Given the description of an element on the screen output the (x, y) to click on. 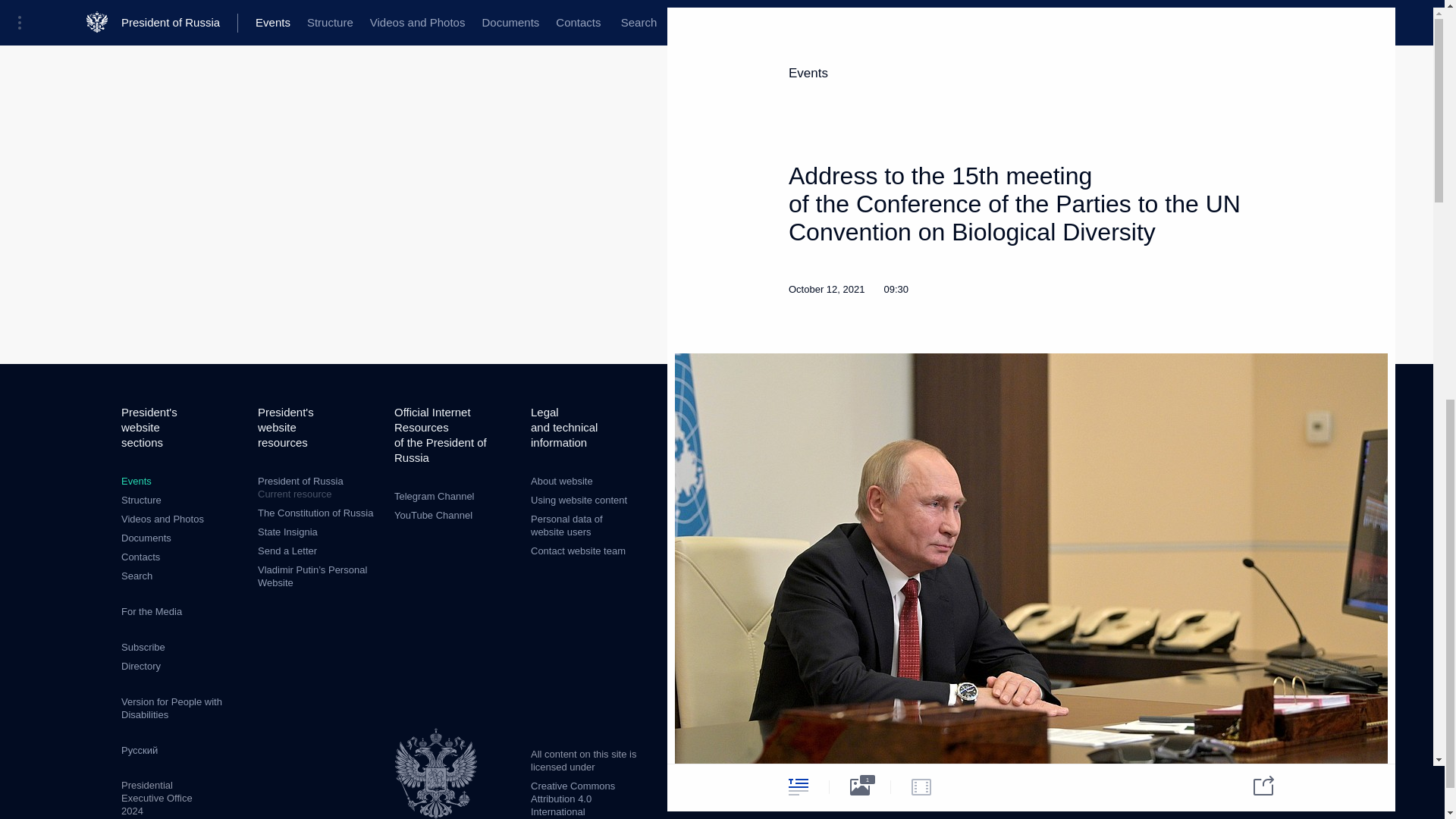
Telegram Channel (434, 496)
Events (135, 480)
YouTube Channel (432, 514)
Creative Commons Attribution 4.0 International (572, 798)
The Constitution of Russia (314, 512)
Directory (140, 665)
Documents (145, 537)
State Insignia (287, 531)
About website (561, 480)
Version for People with Disabilities (171, 708)
Using website content (579, 500)
Search (136, 575)
Contacts (140, 556)
Personal data of website users (566, 525)
